Given the description of an element on the screen output the (x, y) to click on. 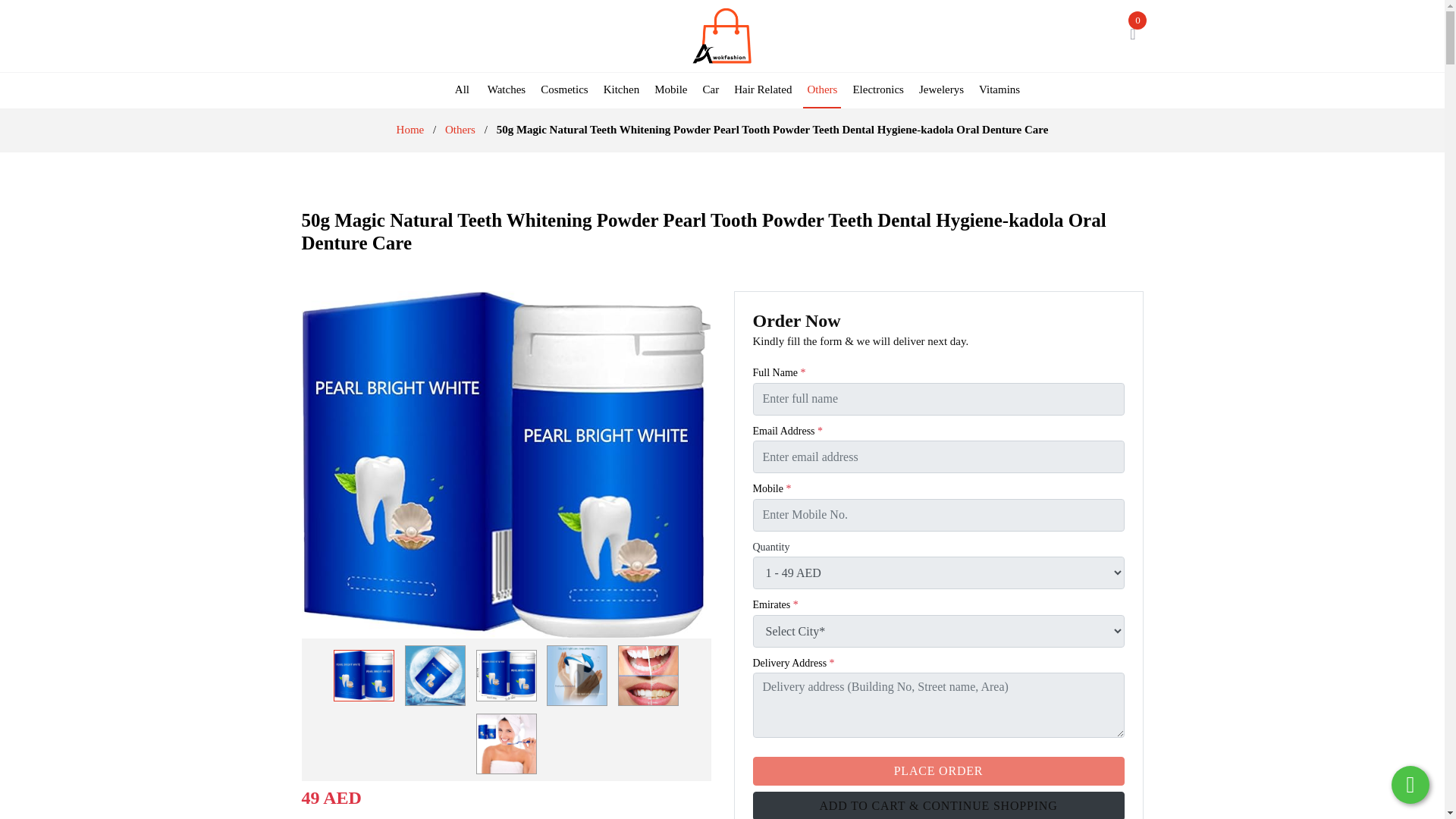
Electronics (877, 89)
Home (410, 129)
Vitamins (999, 89)
Others (822, 90)
Others (460, 129)
Jewelerys (941, 89)
Watches (506, 89)
Message Us (1410, 784)
Cosmetics (564, 89)
PLACE ORDER (938, 770)
Kitchen (621, 89)
Hair Related (762, 89)
Mobile (670, 89)
